Given the description of an element on the screen output the (x, y) to click on. 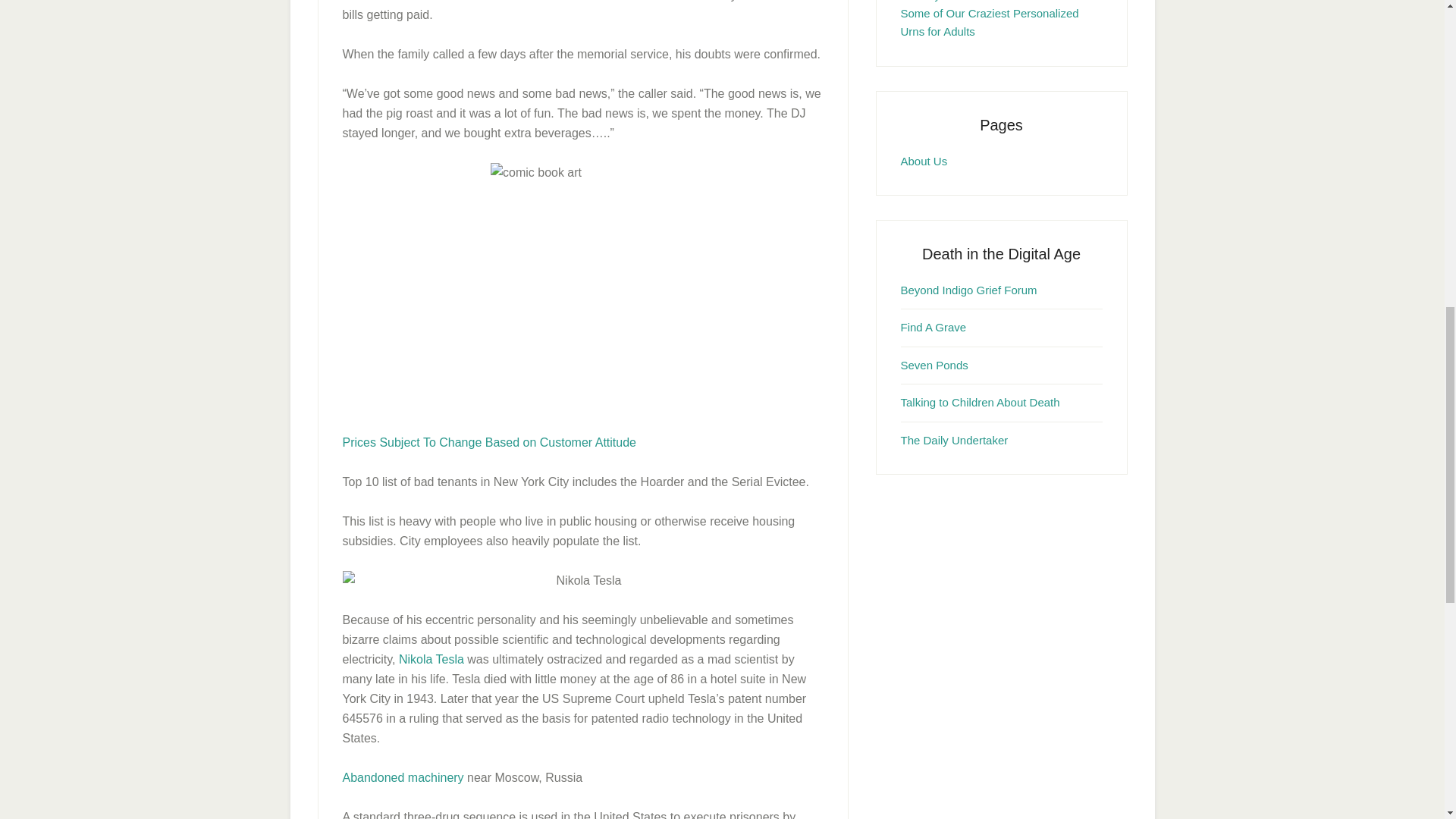
Find A Grave (933, 327)
Nikola Tesla (431, 658)
Prices Subject To Change Based on Customer Attitude (489, 441)
Tesla (583, 580)
Seven Ponds (934, 364)
Talking to Children About Death (980, 401)
Abandoned machinery (403, 777)
About Us (924, 160)
Tesla (431, 658)
